Given the description of an element on the screen output the (x, y) to click on. 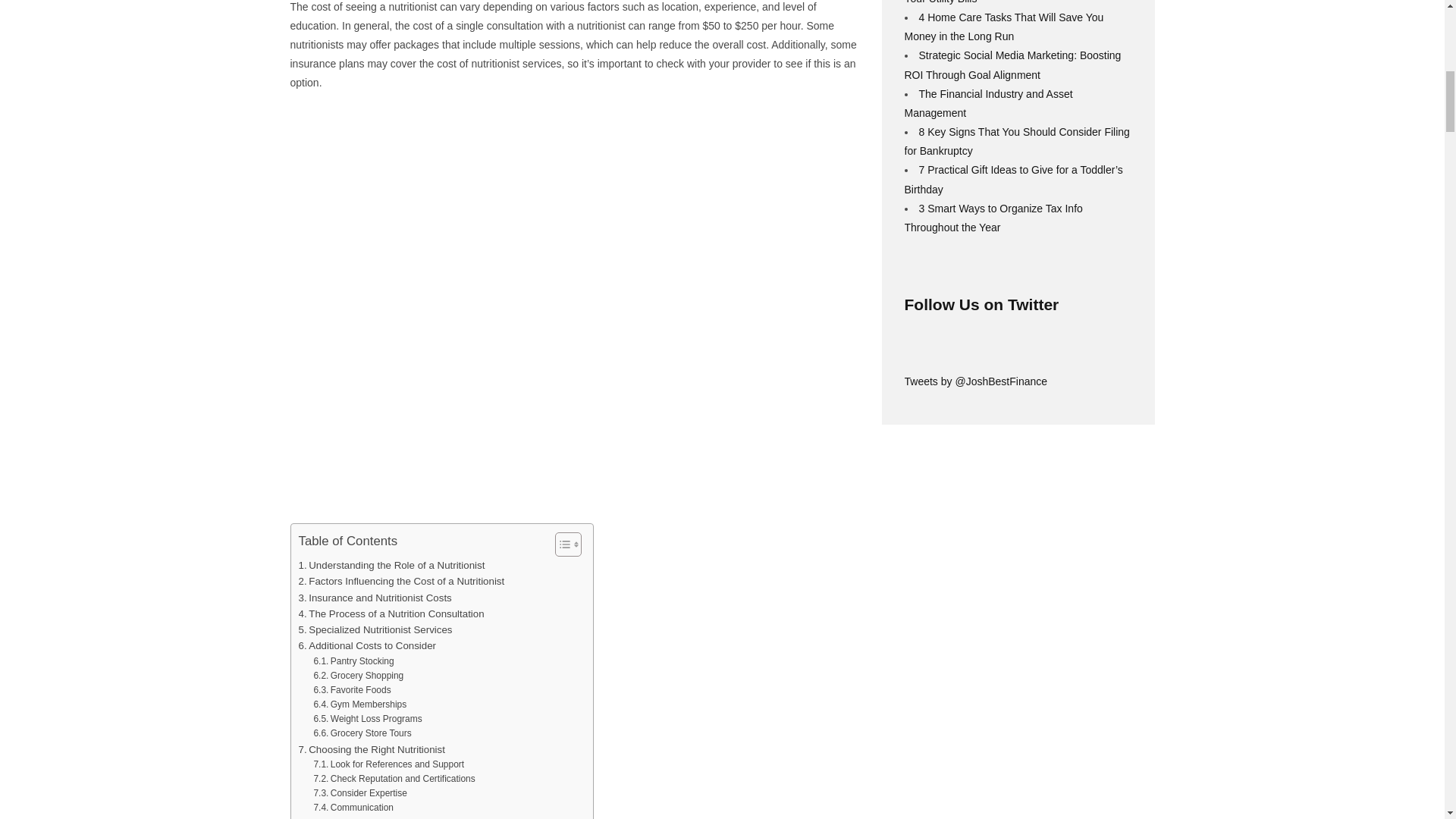
Gym Memberships (359, 704)
Check Reputation and Certifications (393, 779)
Factors Influencing the Cost of a Nutritionist (401, 580)
Consider Expertise (359, 793)
Weight Loss Programs (367, 718)
Insurance and Nutritionist Costs (374, 597)
Understanding the Role of a Nutritionist (391, 565)
Favorite Foods (351, 690)
Grocery Shopping (358, 676)
Communication (353, 807)
